Given the description of an element on the screen output the (x, y) to click on. 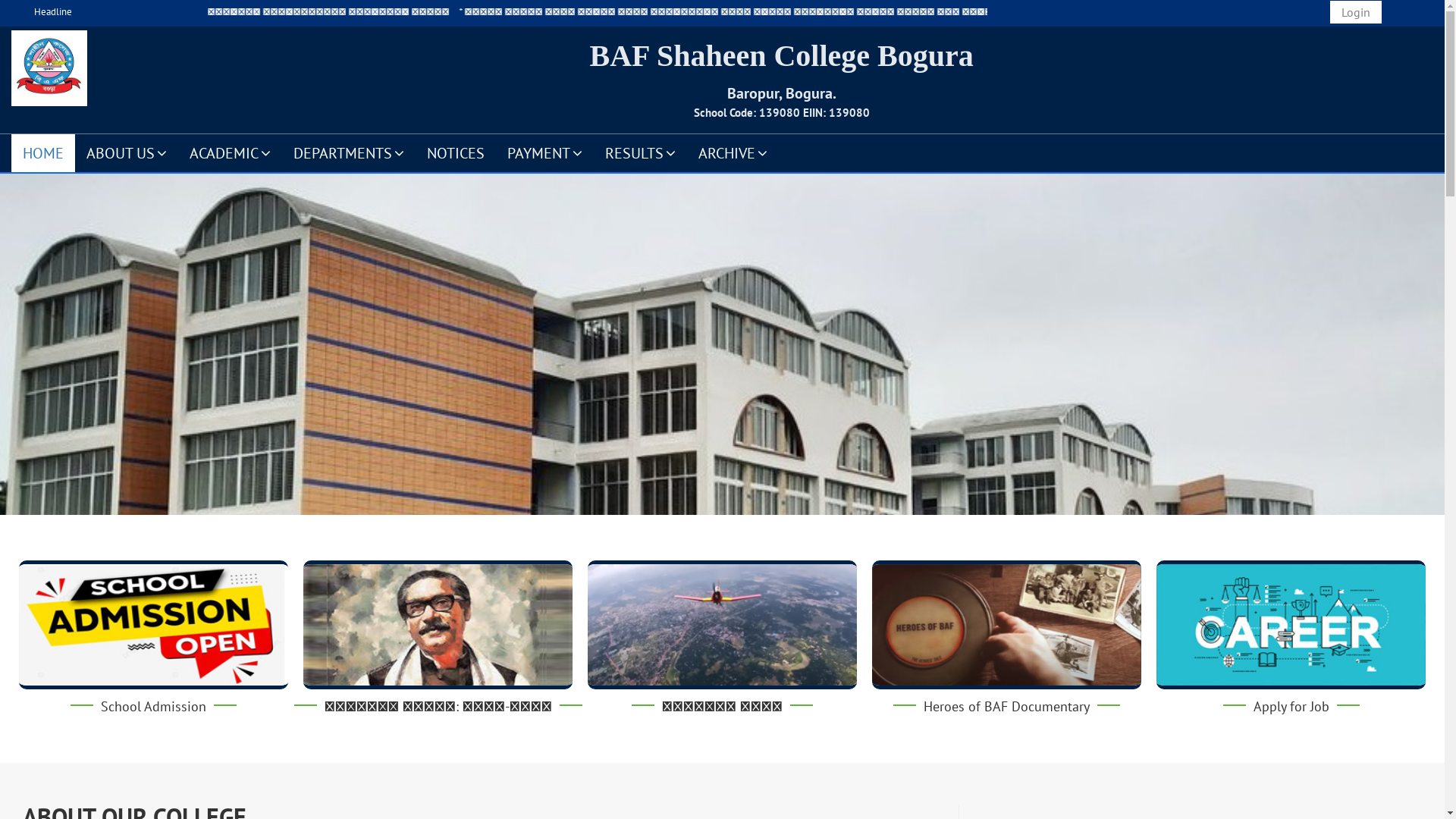
ARCHIVE Element type: text (732, 152)
NOTICES Element type: text (455, 152)
HOME Element type: text (43, 152)
RESULTS Element type: text (640, 152)
Heroes of BAF Documentary Element type: text (1006, 706)
BAF Shaheen College Bogura Element type: text (780, 55)
ABOUT US Element type: text (126, 152)
Apply for Job Element type: text (1290, 706)
School Admission Element type: text (153, 706)
ACADEMIC Element type: text (230, 152)
Login Element type: text (1355, 11)
General Notice :: Element type: text (176, 11)
DEPARTMENTS Element type: text (348, 152)
PAYMENT Element type: text (544, 152)
